Given the description of an element on the screen output the (x, y) to click on. 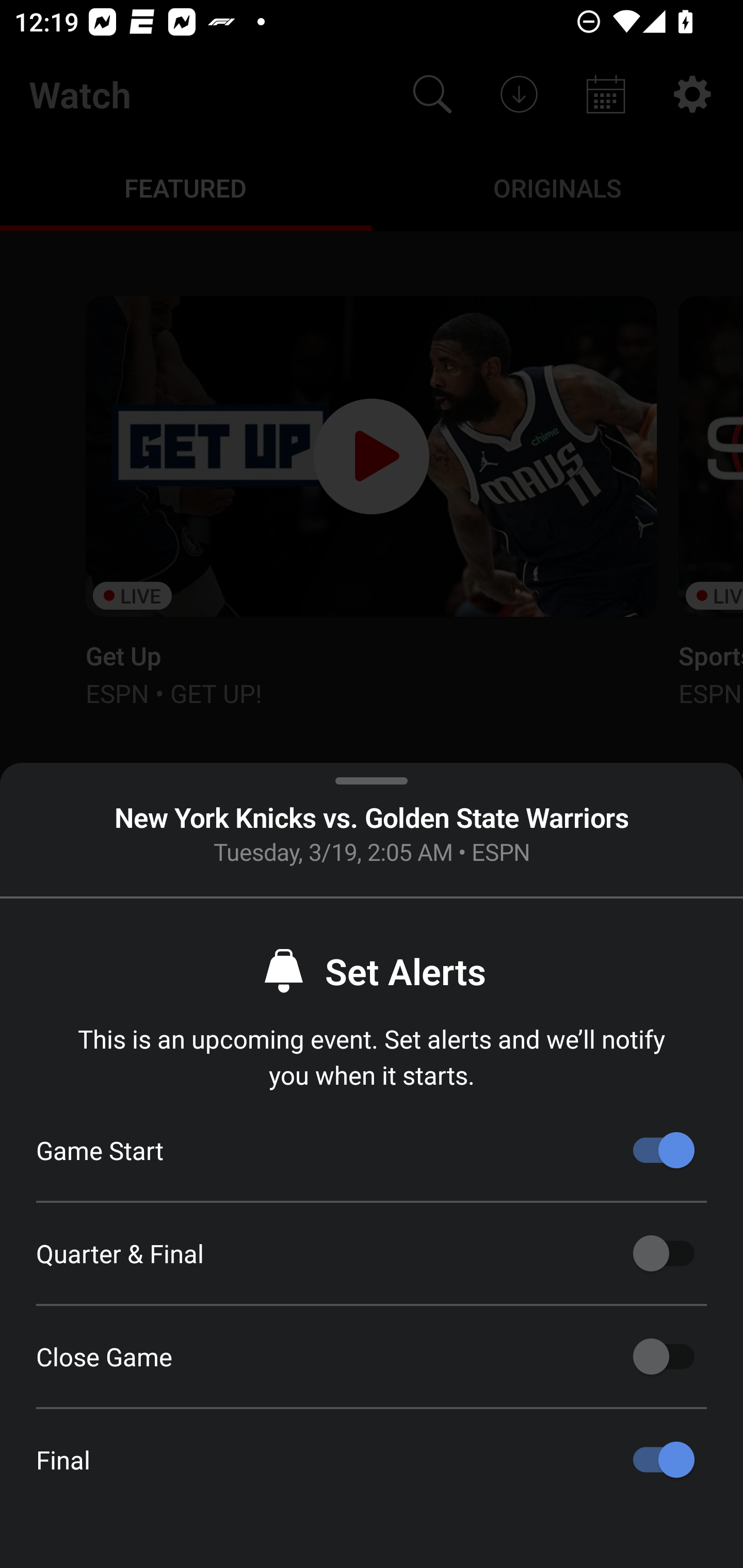
Quarter & Final (663, 1253)
Close Game (663, 1356)
